Given the description of an element on the screen output the (x, y) to click on. 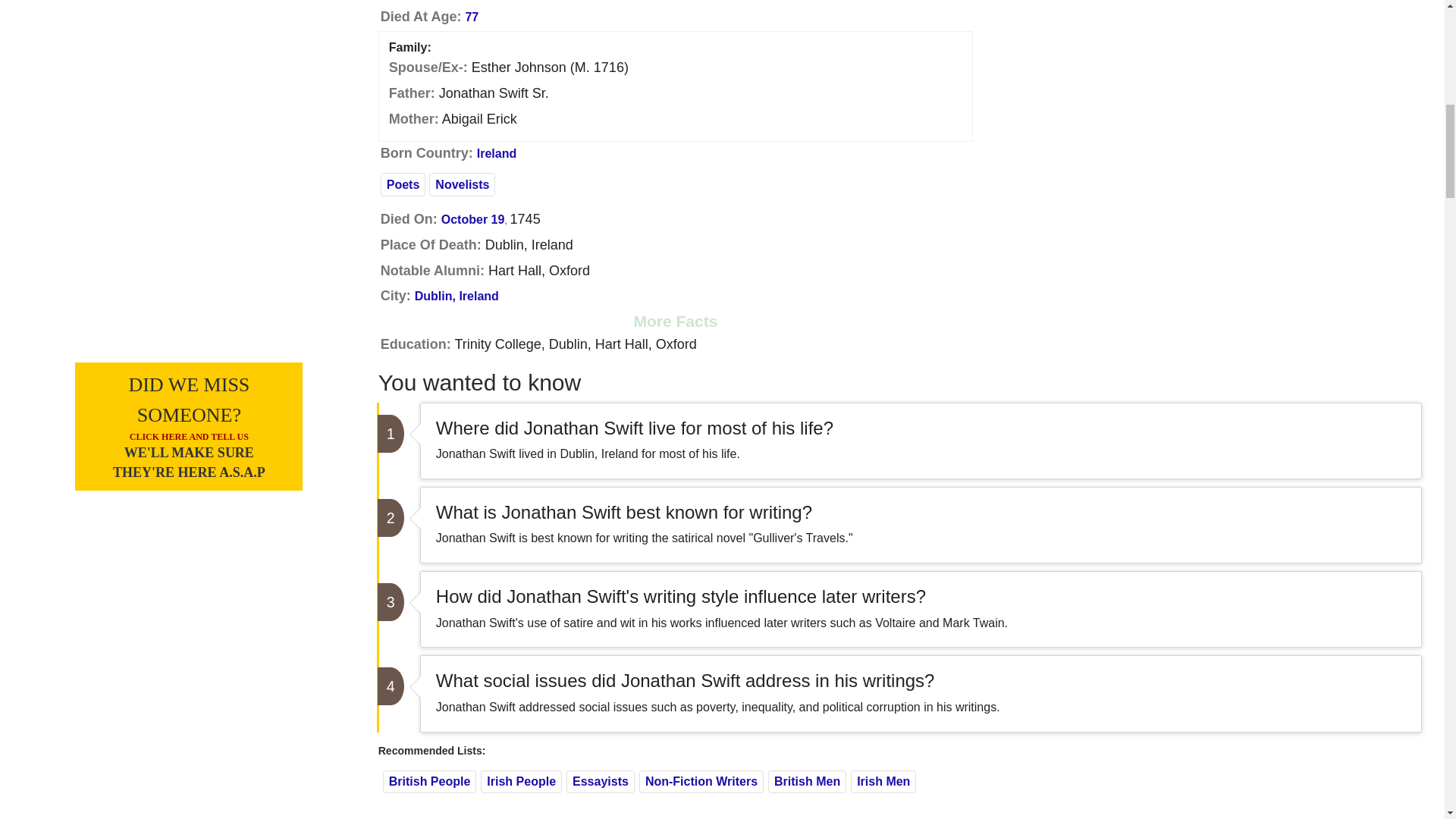
77 (471, 16)
Ireland (496, 153)
